Given the description of an element on the screen output the (x, y) to click on. 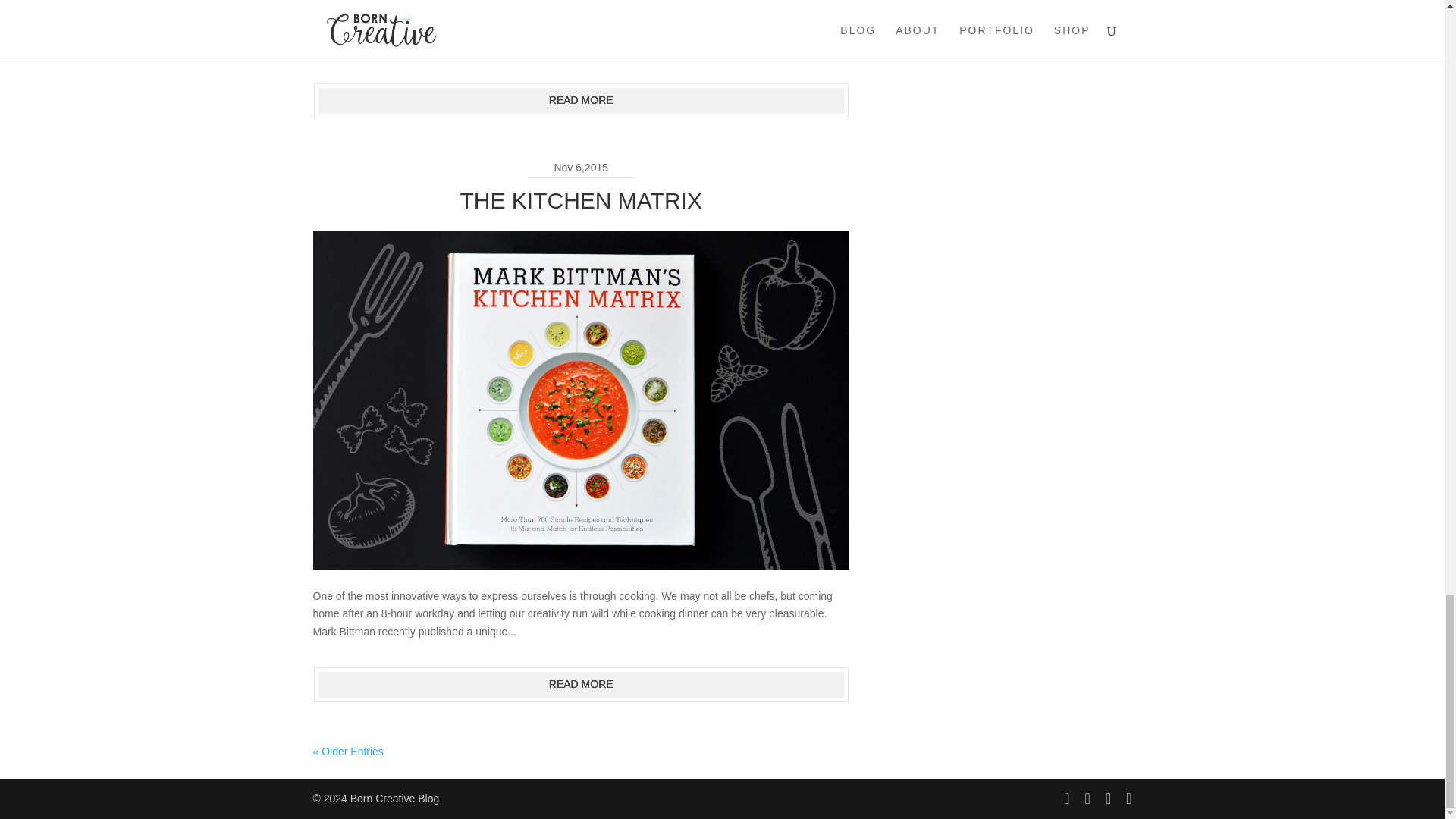
READ MORE (581, 100)
READ MORE (581, 684)
